Given the description of an element on the screen output the (x, y) to click on. 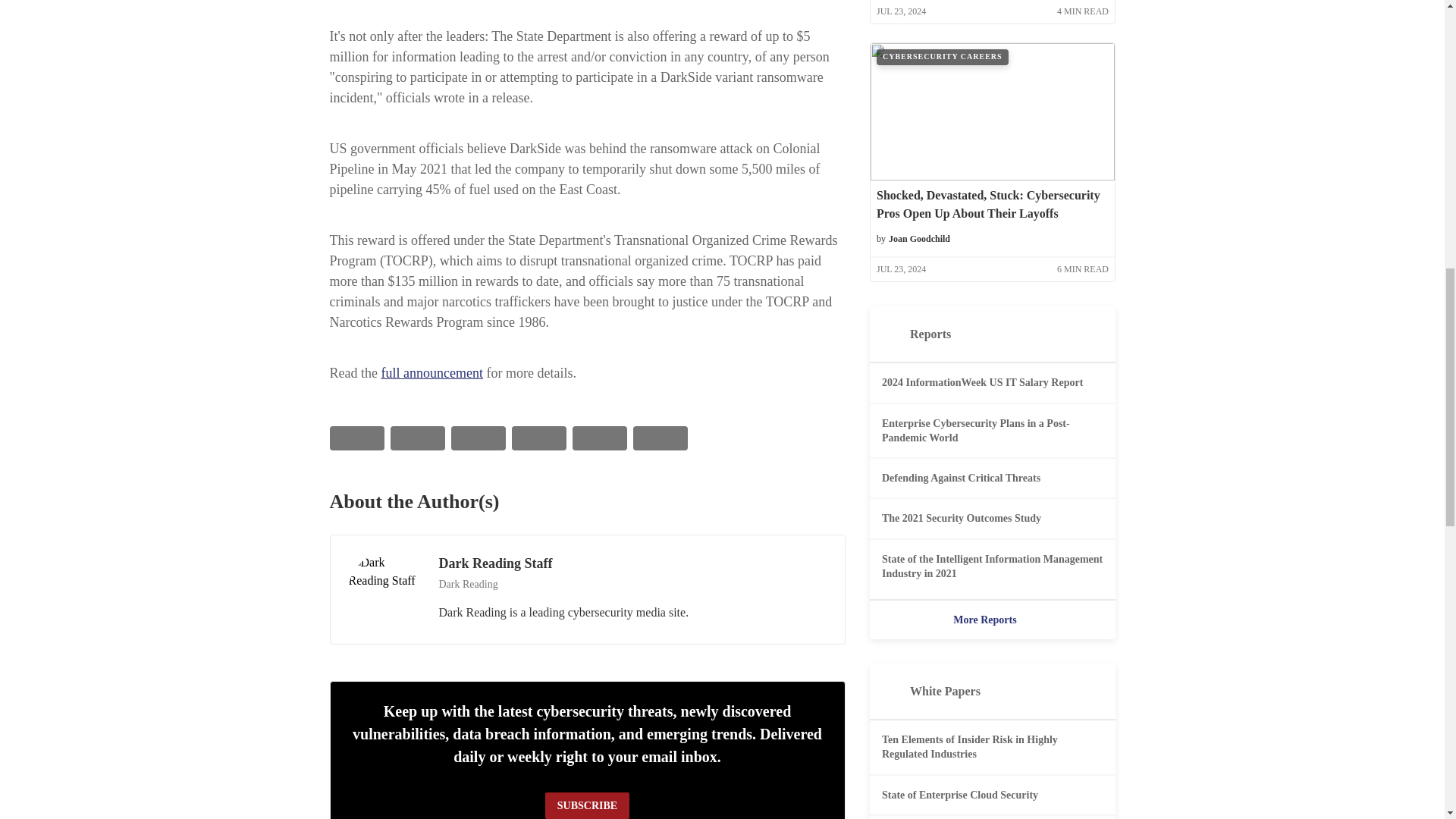
Dark Reading Staff (384, 589)
